Given the description of an element on the screen output the (x, y) to click on. 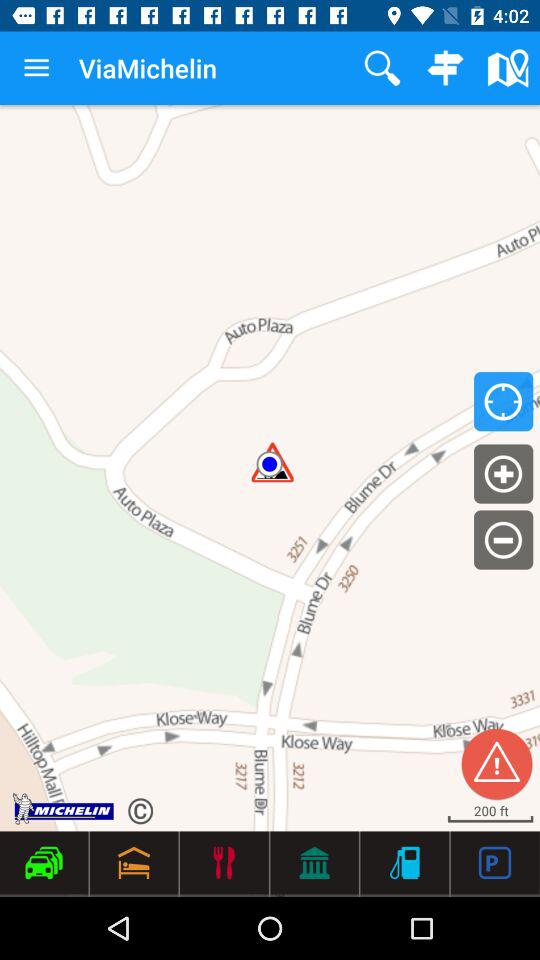
click the zoom out button on the web page (503, 539)
select the 3rd icon from the bottom left side of the web page (223, 862)
click on the icon right to food and restaurant icon at the bottom of the page (314, 862)
